Given the description of an element on the screen output the (x, y) to click on. 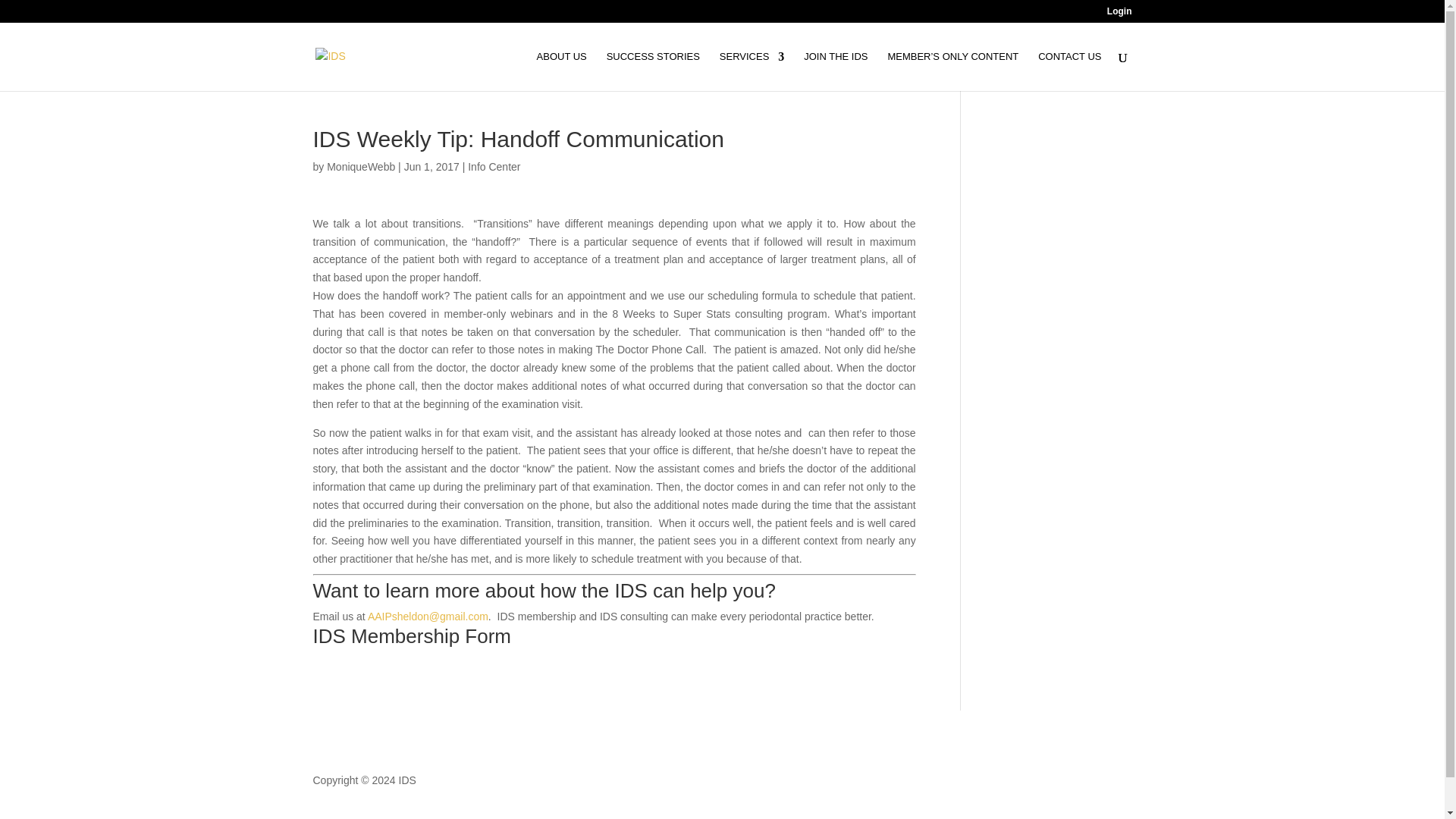
IDS Membership Form (412, 635)
CONTACT US (1069, 70)
ABOUT US (561, 70)
SUCCESS STORIES (653, 70)
Info Center (493, 166)
Login (1119, 14)
Posts by MoniqueWebb (360, 166)
MoniqueWebb (360, 166)
JOIN THE IDS (835, 70)
SERVICES (751, 70)
